Given the description of an element on the screen output the (x, y) to click on. 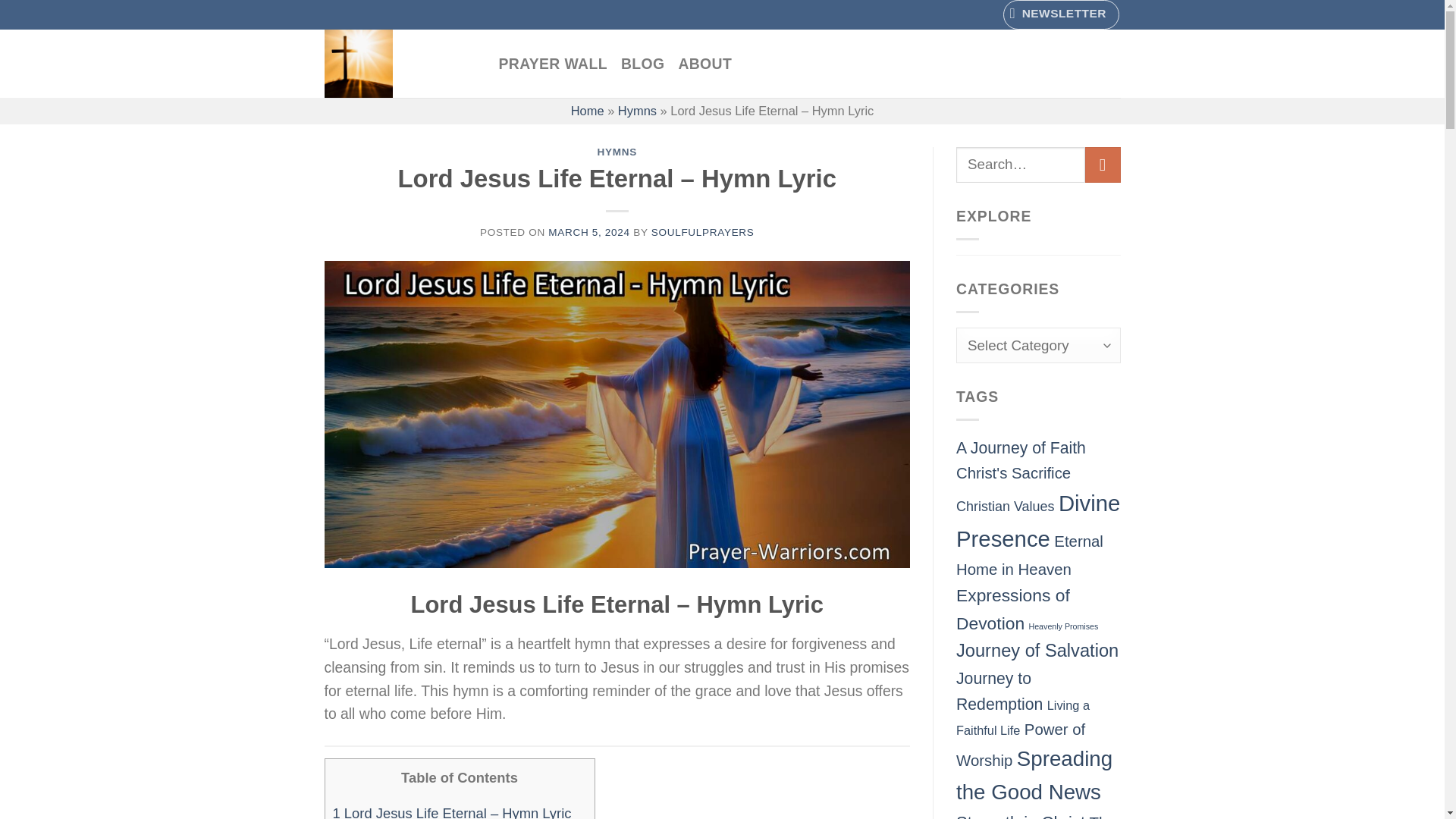
Divine Presence (1037, 520)
Home (587, 110)
Hymns (636, 110)
Prayer Warriors - Warriors of Faith, Soldiers of Prayer. (400, 63)
ABOUT (705, 62)
NEWSLETTER (1061, 14)
PRAYER WALL (553, 62)
Christ's Sacrifice (1013, 473)
Sign up for Newsletter (1061, 14)
MARCH 5, 2024 (588, 232)
SOULFULPRAYERS (702, 232)
A Journey of Faith (1021, 447)
BLOG (642, 62)
Christian Values (1005, 506)
